Given the description of an element on the screen output the (x, y) to click on. 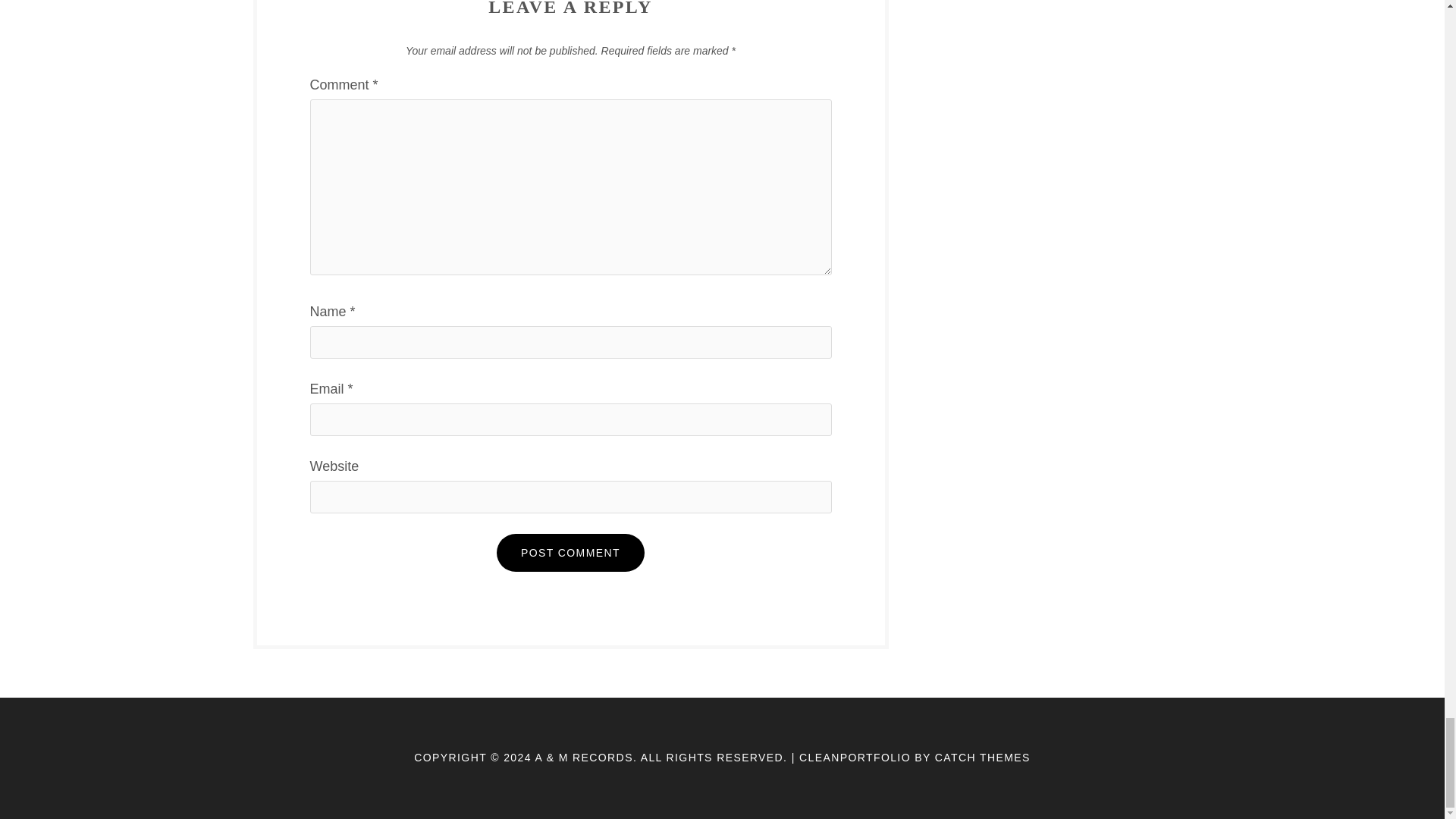
Post Comment (570, 552)
Post Comment (570, 552)
